Given the description of an element on the screen output the (x, y) to click on. 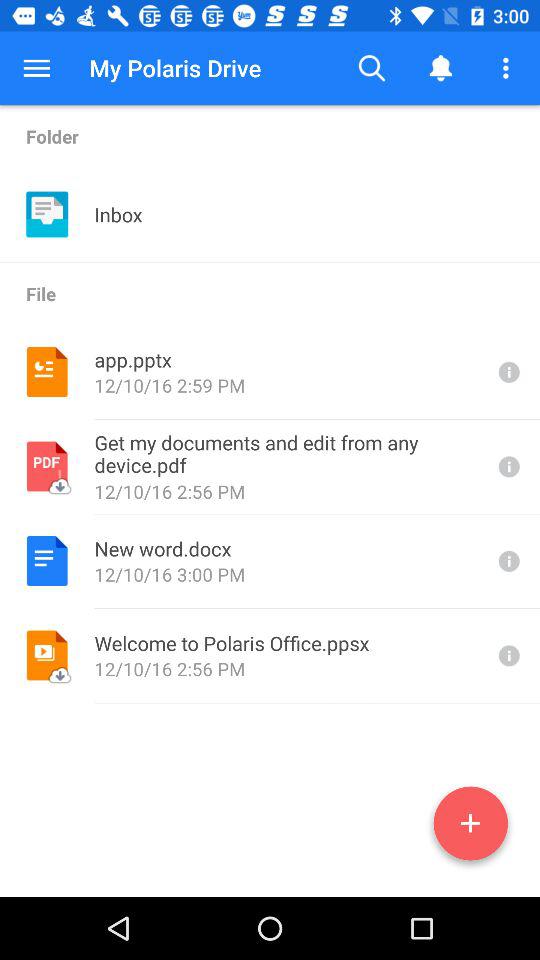
more information (507, 655)
